Given the description of an element on the screen output the (x, y) to click on. 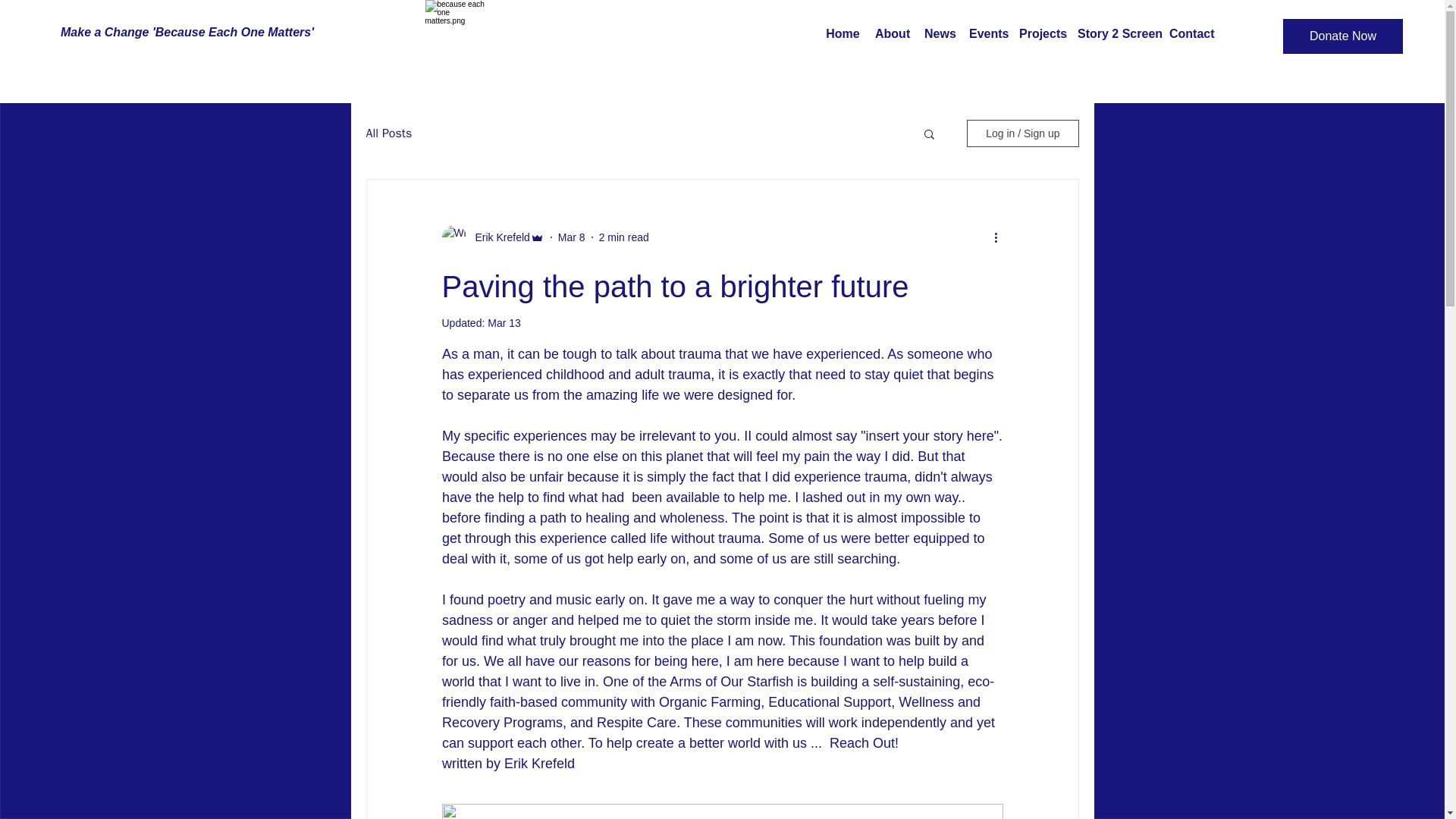
Mar 13 (504, 322)
Story 2 Screen (1115, 34)
Donate Now (1342, 36)
Contact (1190, 34)
Events (985, 34)
Projects (1040, 34)
News (938, 34)
About (892, 34)
Home (842, 34)
Erik Krefeld (497, 236)
All Posts (388, 133)
Mar 8 (571, 236)
2 min read (623, 236)
Make a Change 'Because Each One Matters' (187, 32)
